Given the description of an element on the screen output the (x, y) to click on. 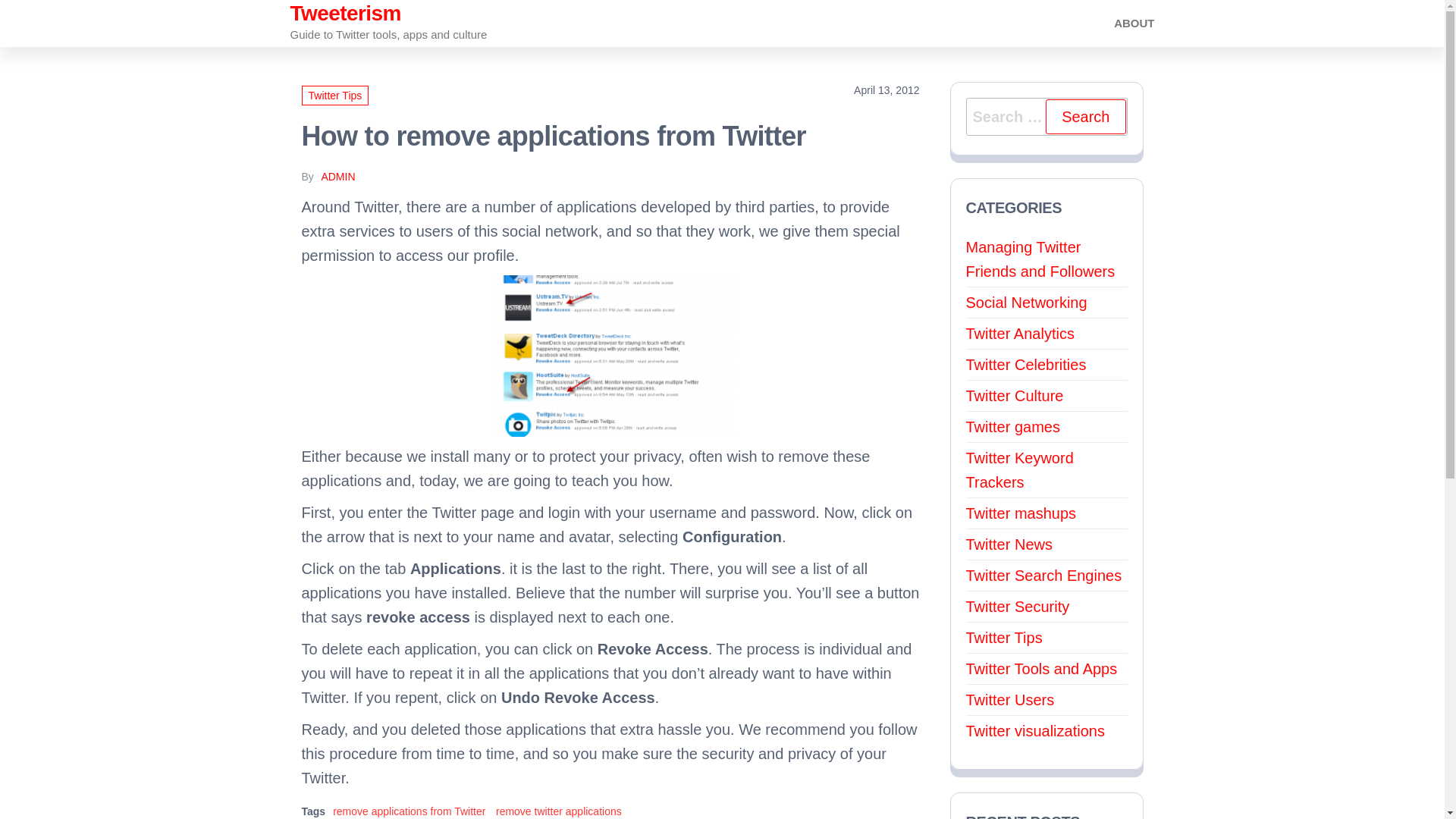
Search (1085, 116)
Twitter Security (1018, 606)
ADMIN (337, 176)
About (1134, 22)
ABOUT (1134, 22)
remove applications from Twitter (615, 355)
Tweeterism (344, 13)
Twitter Tips (1004, 637)
Twitter mashups (1021, 513)
Managing Twitter Friends and Followers (1040, 259)
